Given the description of an element on the screen output the (x, y) to click on. 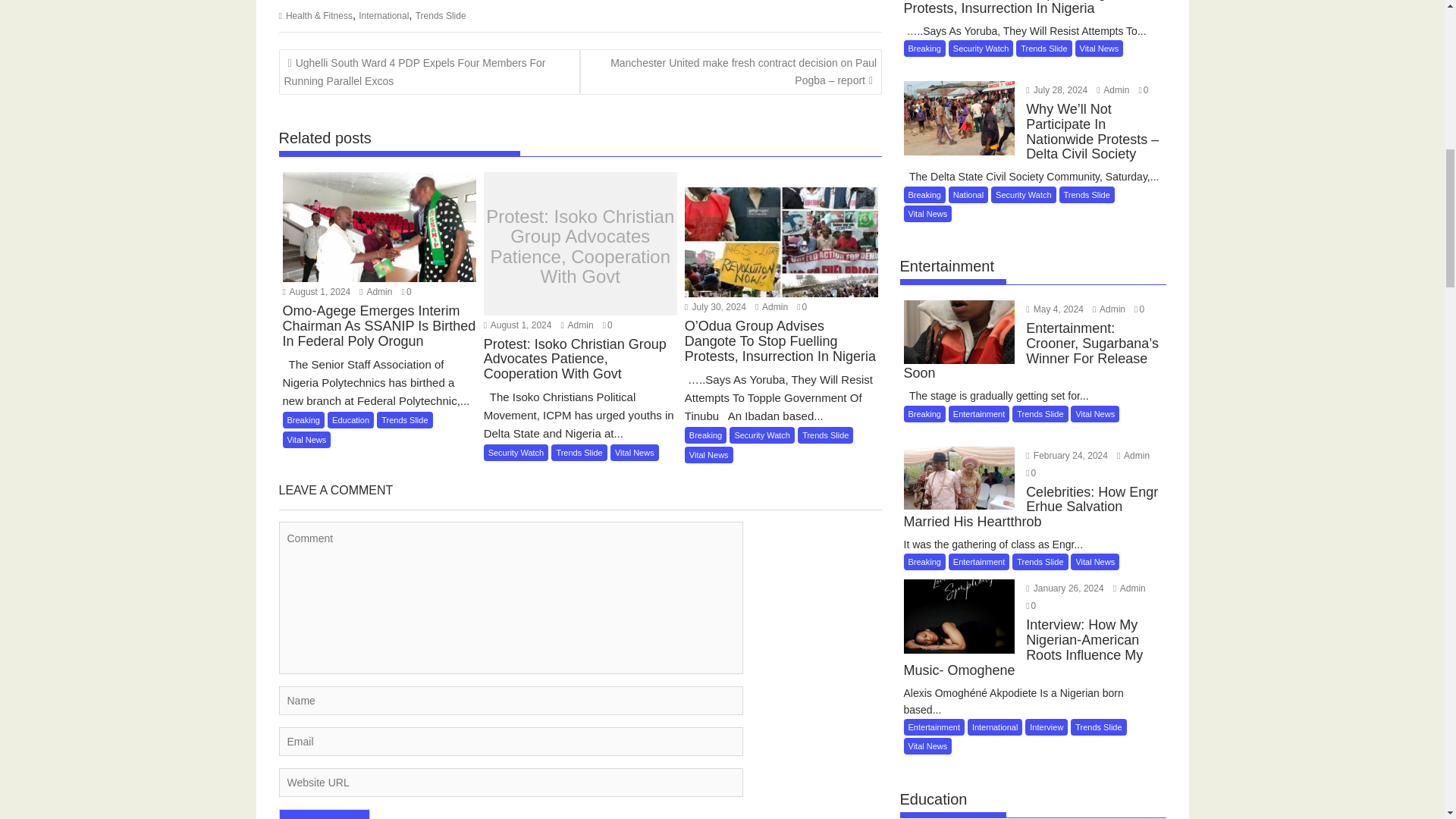
Education (350, 419)
Trends Slide (439, 15)
International (383, 15)
0 (406, 291)
August 1, 2024 (316, 291)
Admin (375, 291)
Breaking (302, 419)
Admin (375, 291)
